Given the description of an element on the screen output the (x, y) to click on. 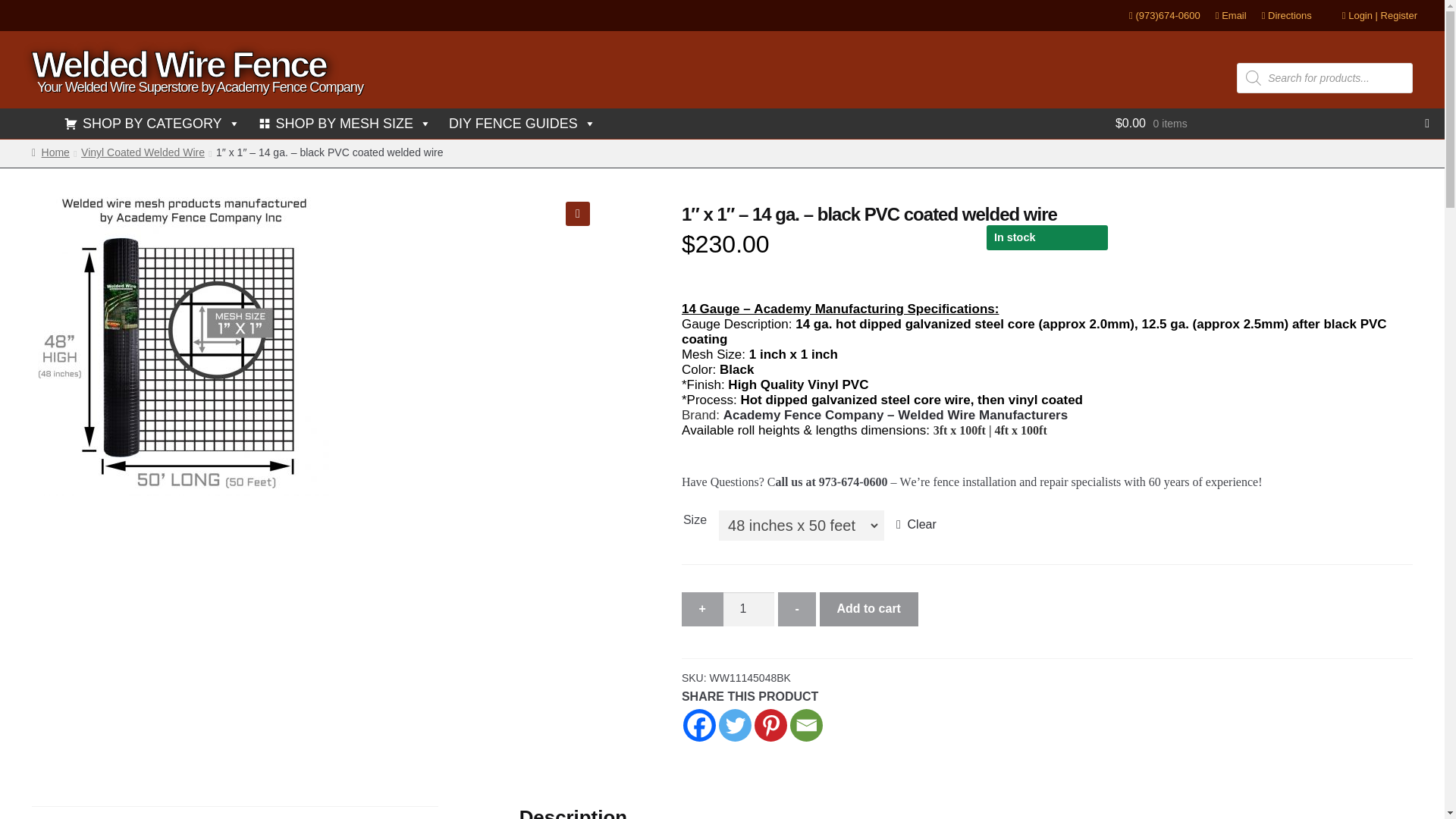
SHOP BY CATEGORY (151, 123)
1 (748, 609)
View your shopping cart (1272, 123)
SHOP BY MESH SIZE (344, 123)
Email (1230, 15)
Directions (1286, 15)
DIY FENCE GUIDES (522, 123)
Welded Wire Fence (179, 65)
